Given the description of an element on the screen output the (x, y) to click on. 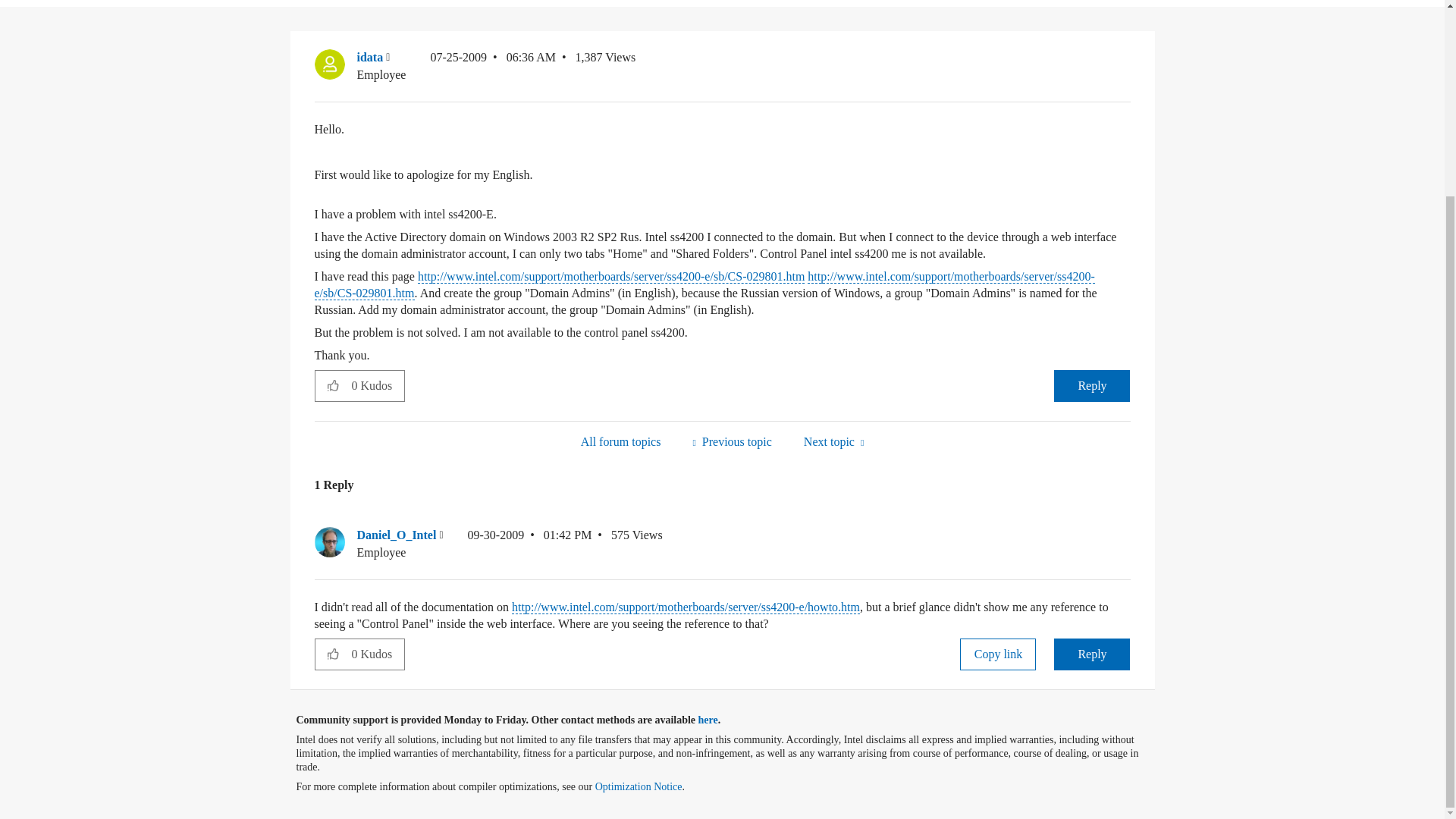
Posted on (492, 66)
idata (328, 64)
Server Products (620, 441)
The total number of kudos this post has received. (377, 386)
Posted on (529, 544)
S5520SC beep code 4. No info in intel docs (731, 441)
The total number of kudos this post has received. (377, 654)
reinstalling audio drivers (833, 441)
Click here to give kudos to this post. (332, 653)
Click here to give kudos to this post. (332, 385)
